Given the description of an element on the screen output the (x, y) to click on. 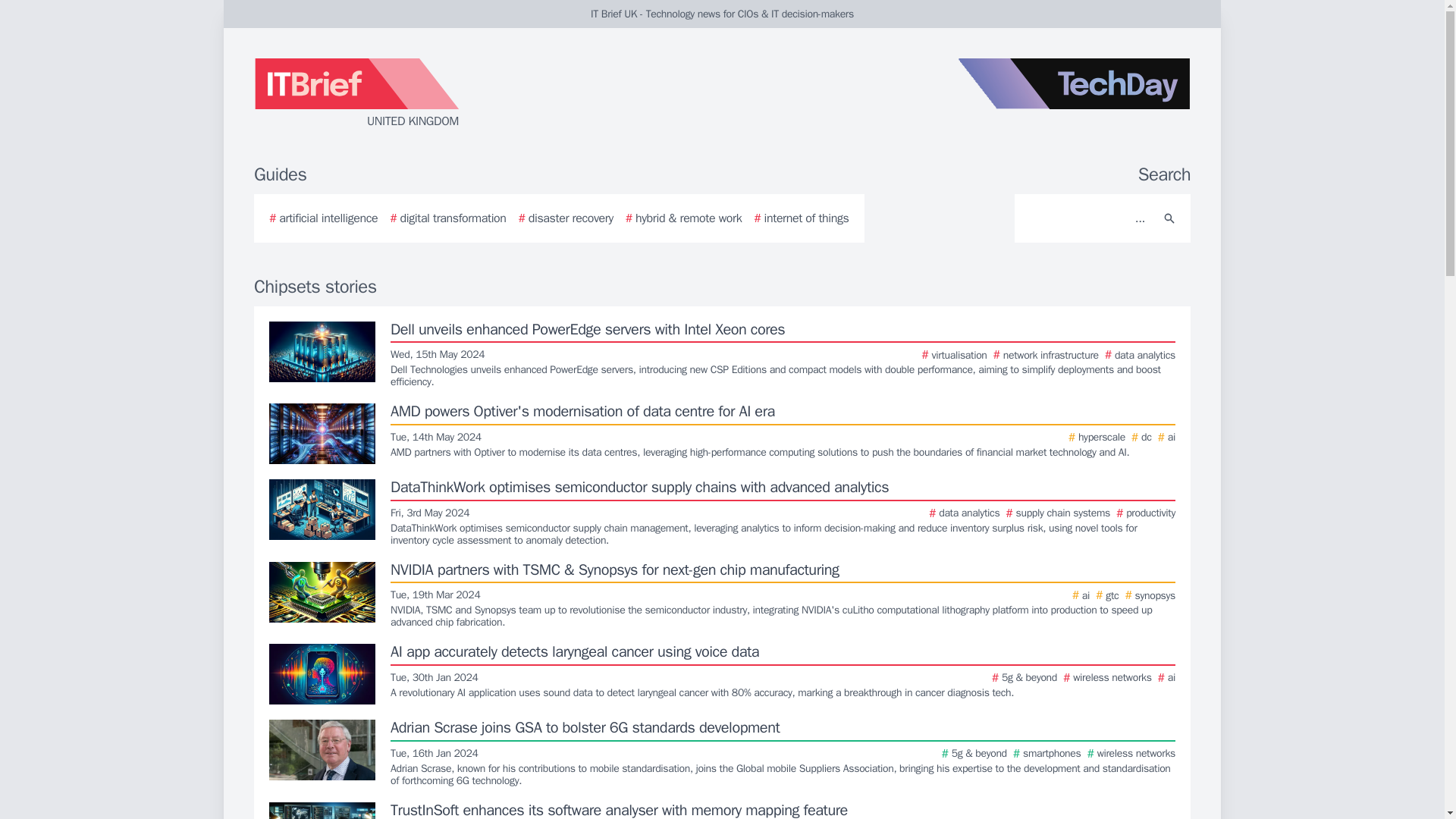
UNITED KINGDOM (435, 94)
